Given the description of an element on the screen output the (x, y) to click on. 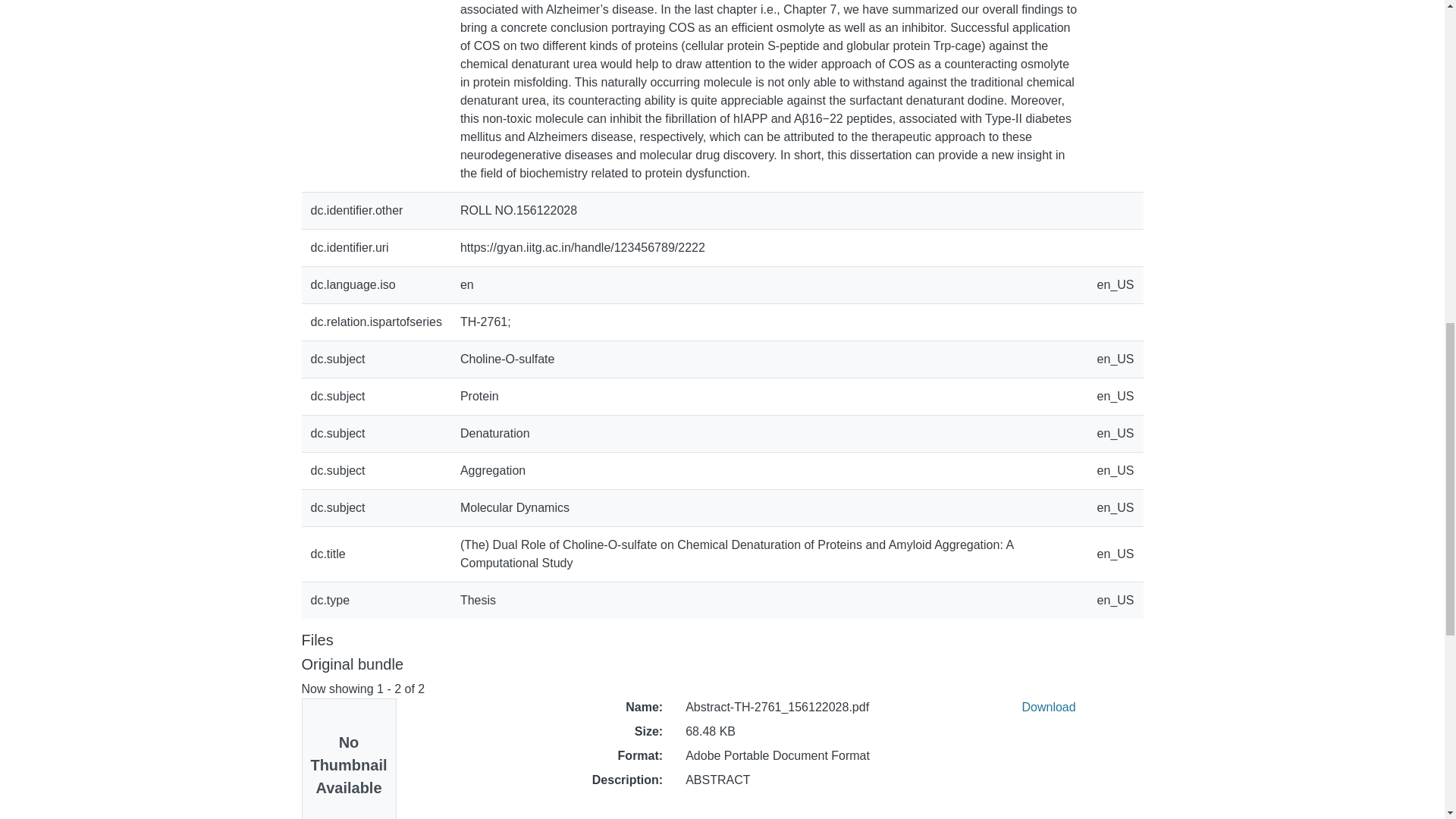
Download (1048, 707)
